Given the description of an element on the screen output the (x, y) to click on. 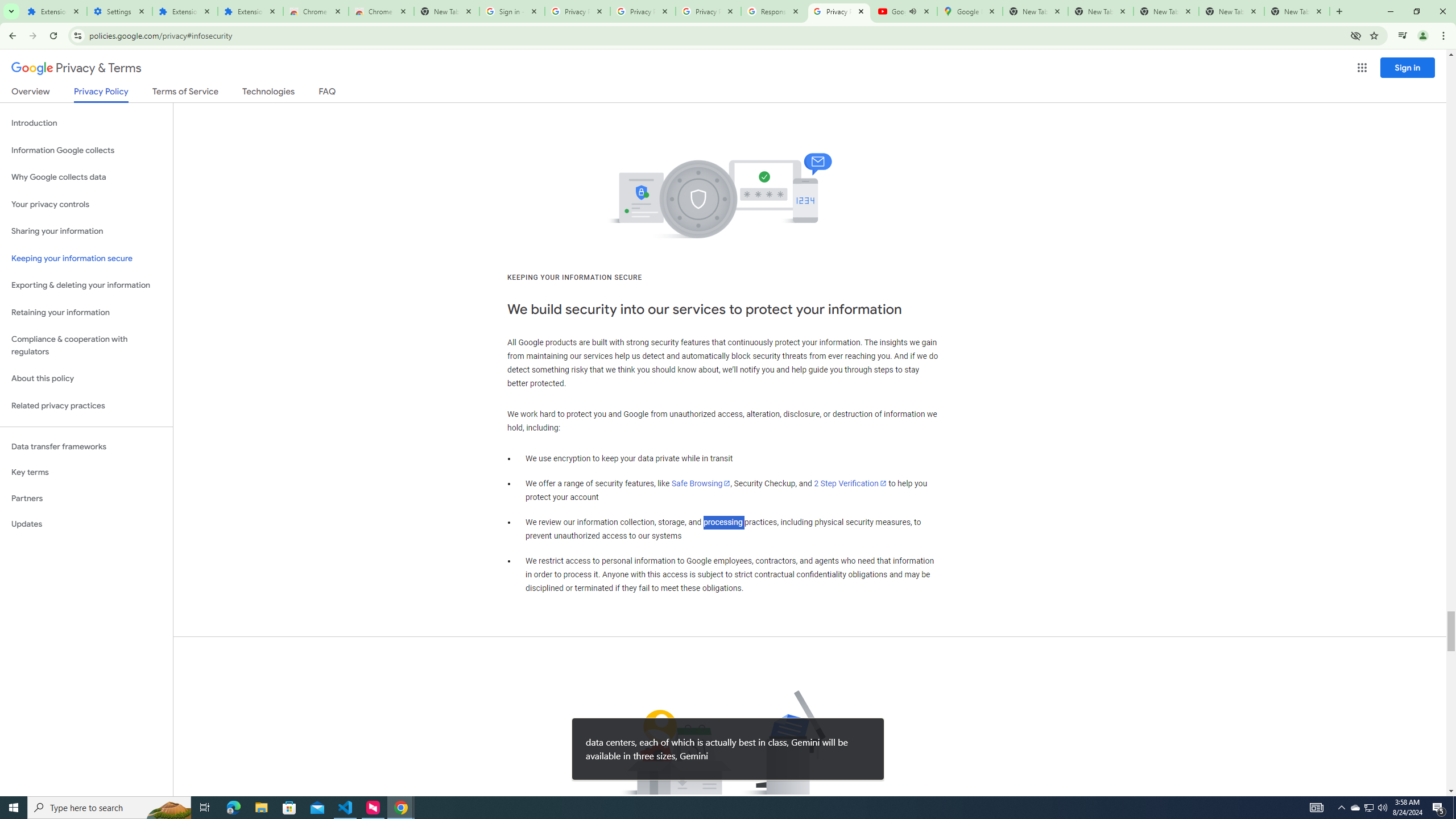
FAQ (327, 93)
Your privacy controls (86, 204)
Introduction (86, 122)
Key terms (86, 472)
Mute tab (912, 10)
Overview (30, 93)
Third-party cookies blocked (1355, 35)
Settings (119, 11)
Terms of Service (184, 93)
Control your music, videos, and more (1402, 35)
Chrome Web Store - Themes (381, 11)
Keeping your information secure (86, 258)
